Given the description of an element on the screen output the (x, y) to click on. 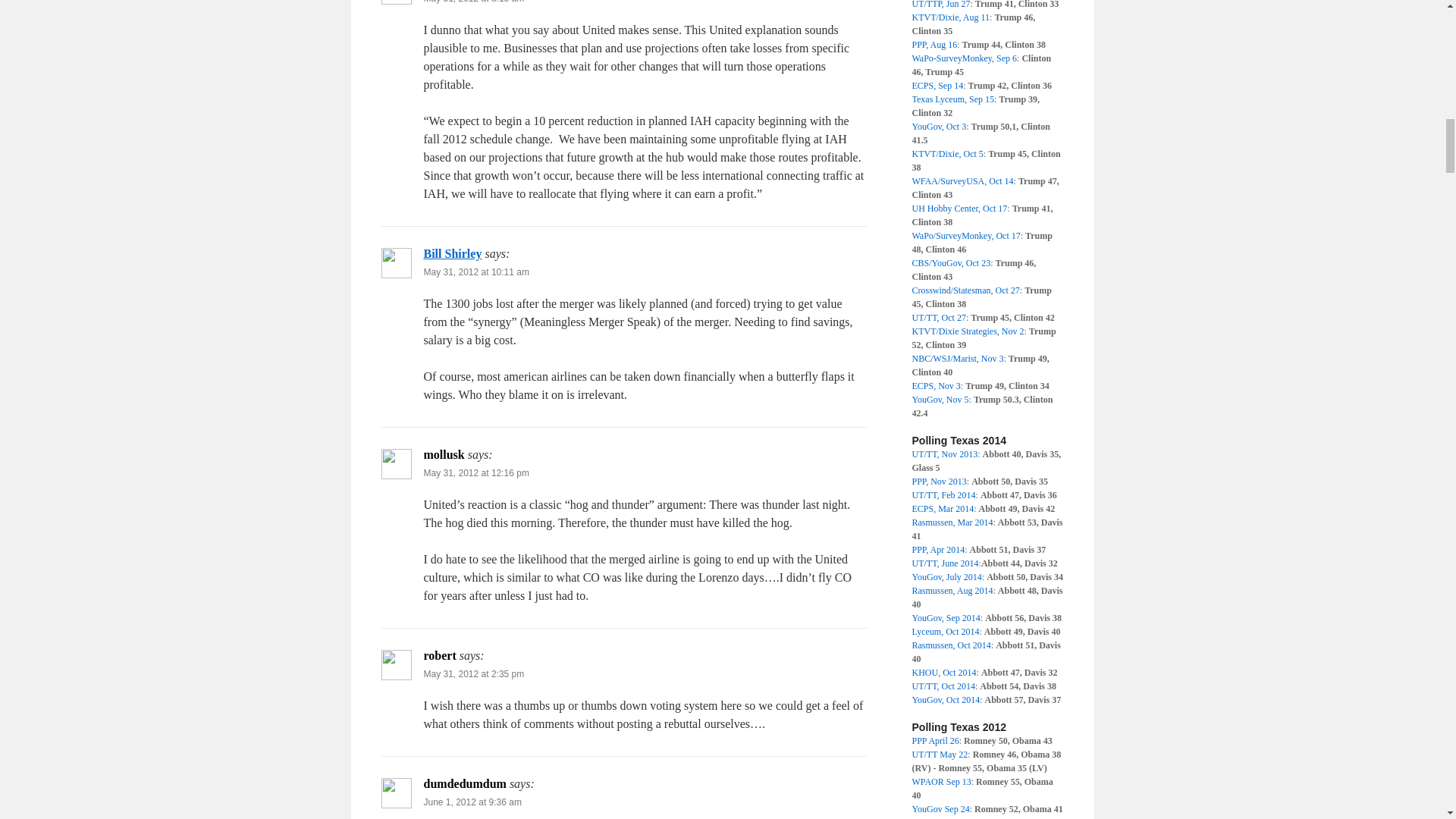
May 31, 2012 at 10:11 am (475, 271)
Bill Shirley (452, 253)
May 31, 2012 at 8:15 am (473, 2)
May 31, 2012 at 12:16 pm (475, 472)
